Given the description of an element on the screen output the (x, y) to click on. 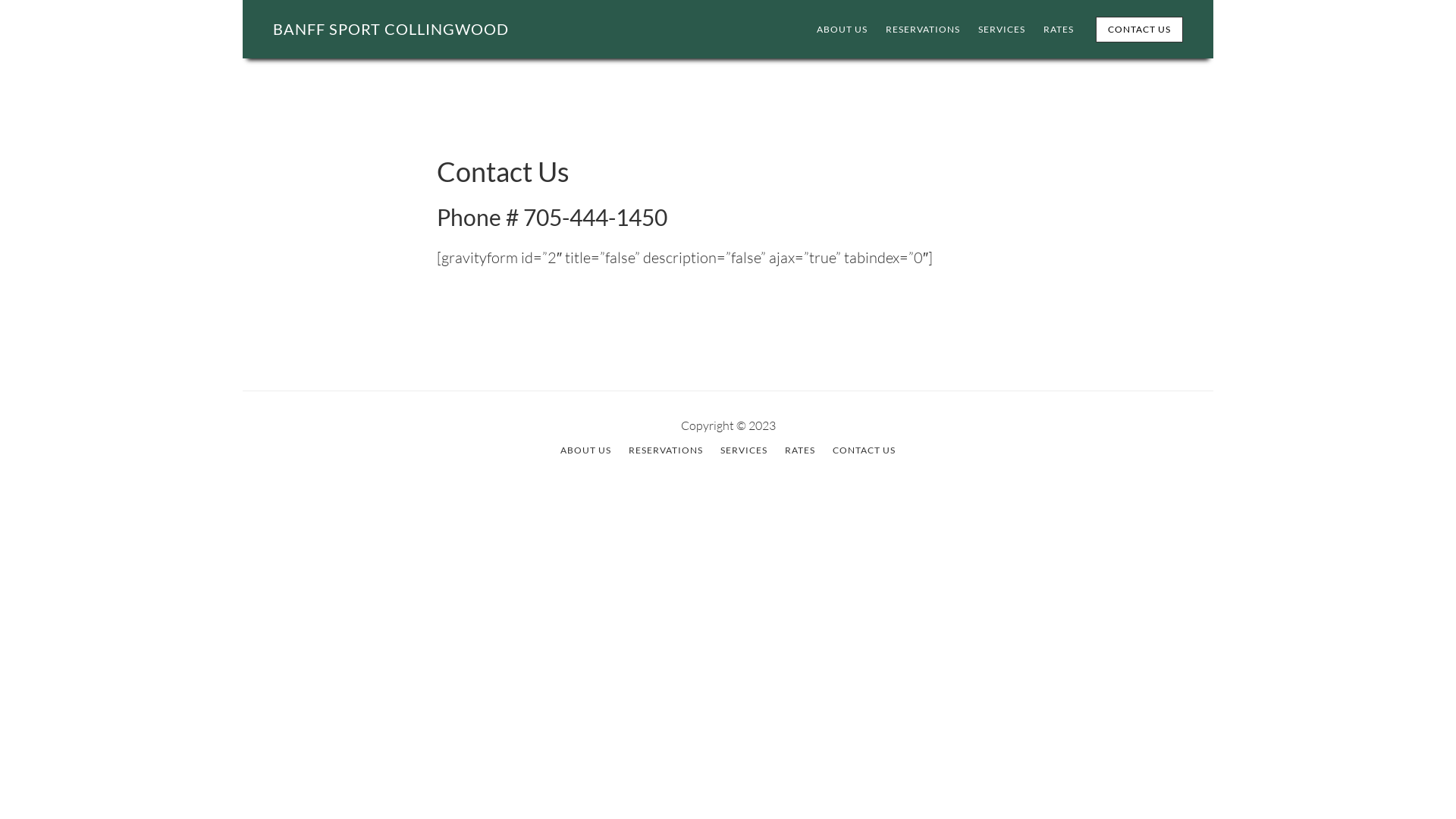
RESERVATIONS Element type: text (922, 29)
CONTACT US Element type: text (1139, 29)
SERVICES Element type: text (743, 450)
CONTACT US Element type: text (863, 450)
ABOUT US Element type: text (842, 29)
BANFF SPORT COLLINGWOOD Element type: text (390, 28)
ABOUT US Element type: text (585, 450)
Skip to primary navigation Element type: text (242, 0)
RATES Element type: text (1058, 29)
RATES Element type: text (799, 450)
RESERVATIONS Element type: text (665, 450)
SERVICES Element type: text (1001, 29)
